Given the description of an element on the screen output the (x, y) to click on. 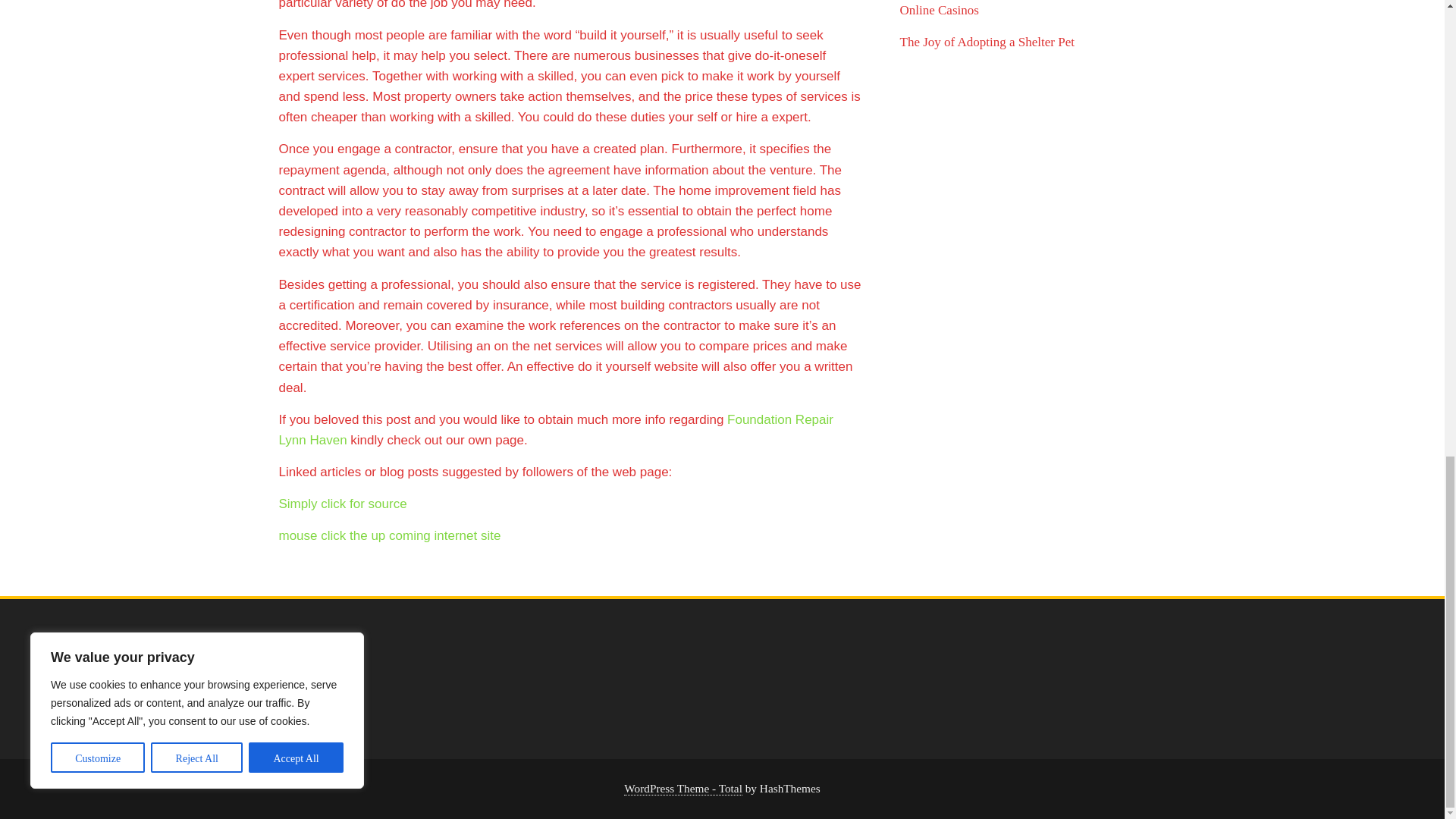
Foundation Repair Lynn Haven (555, 429)
mouse click the up coming internet site (389, 535)
Simply click for source (343, 503)
